Given the description of an element on the screen output the (x, y) to click on. 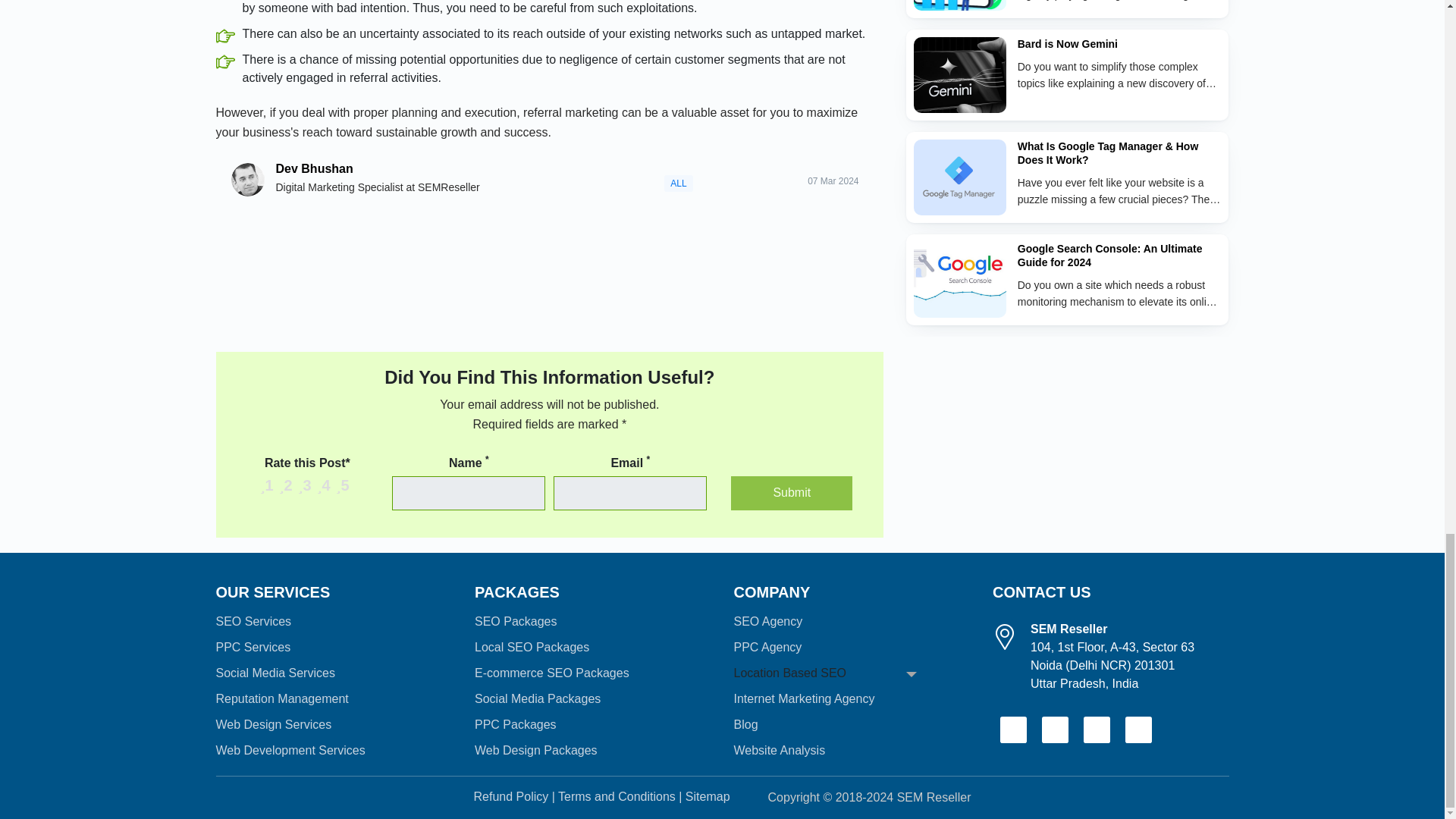
2 (283, 492)
4 (302, 492)
Excellent! (343, 484)
Pretty good (324, 484)
good (305, 484)
1 (274, 492)
3 (293, 492)
bad (286, 484)
5 (312, 492)
very bad (267, 484)
